Given the description of an element on the screen output the (x, y) to click on. 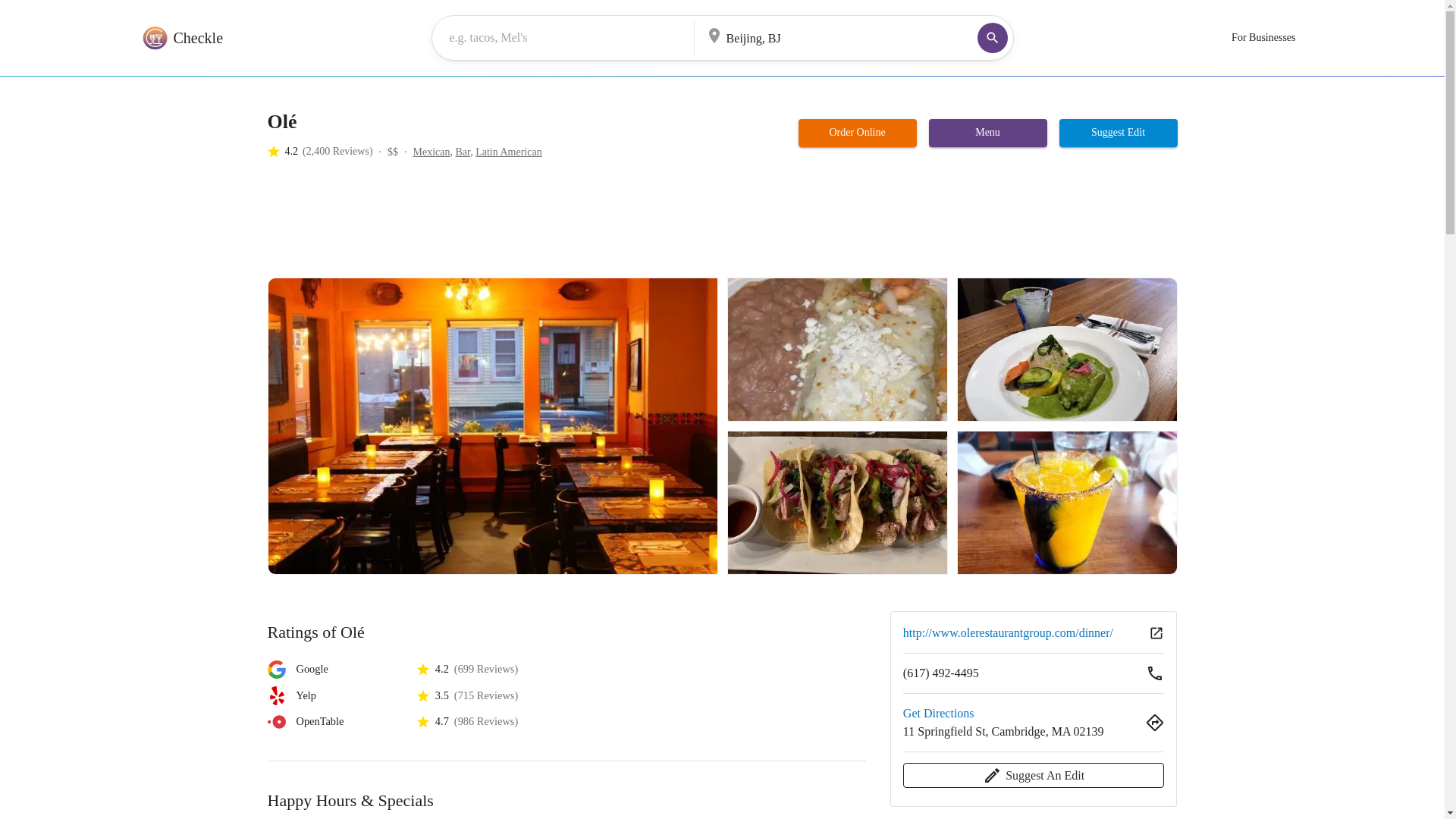
Menu (987, 132)
Advertisement (542, 224)
Suggest Edit (1118, 132)
Checkle (180, 37)
For Businesses (1263, 38)
Suggest An Edit (1033, 774)
Beijing, BJ (819, 37)
Order Online (857, 132)
Latin American (508, 151)
Mexican (431, 151)
Bar (462, 151)
Menu (987, 131)
Get Directions (938, 712)
